Given the description of an element on the screen output the (x, y) to click on. 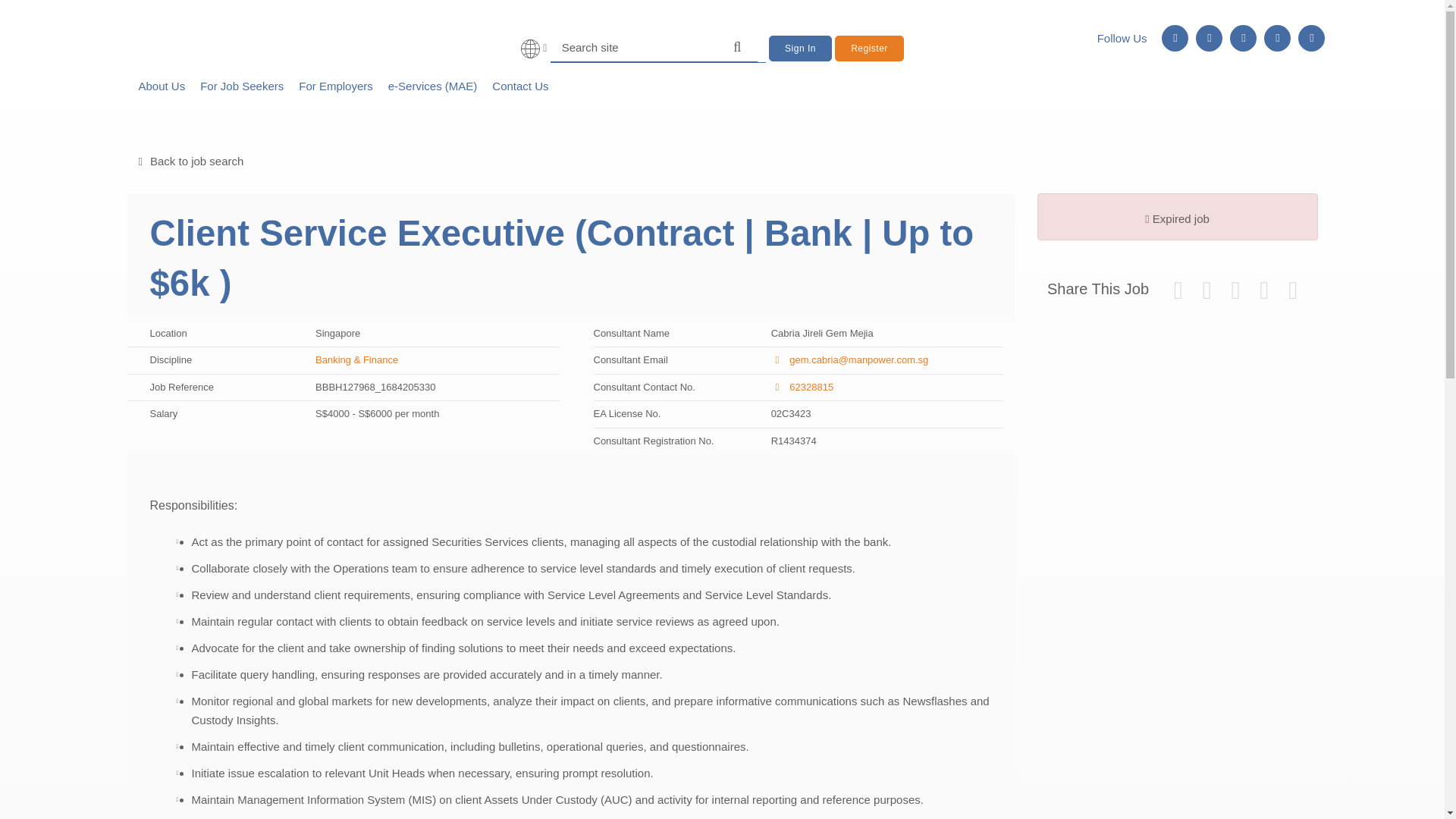
For Job Seekers (241, 86)
Email (1264, 294)
Tweet this (1178, 294)
Go to the Homepage (232, 37)
Sign In (799, 48)
send in Whatsapp (1292, 294)
Manpower Singapore (232, 37)
share on LinkedIn (1235, 294)
share on Facebook (1207, 294)
About Us (161, 86)
